Given the description of an element on the screen output the (x, y) to click on. 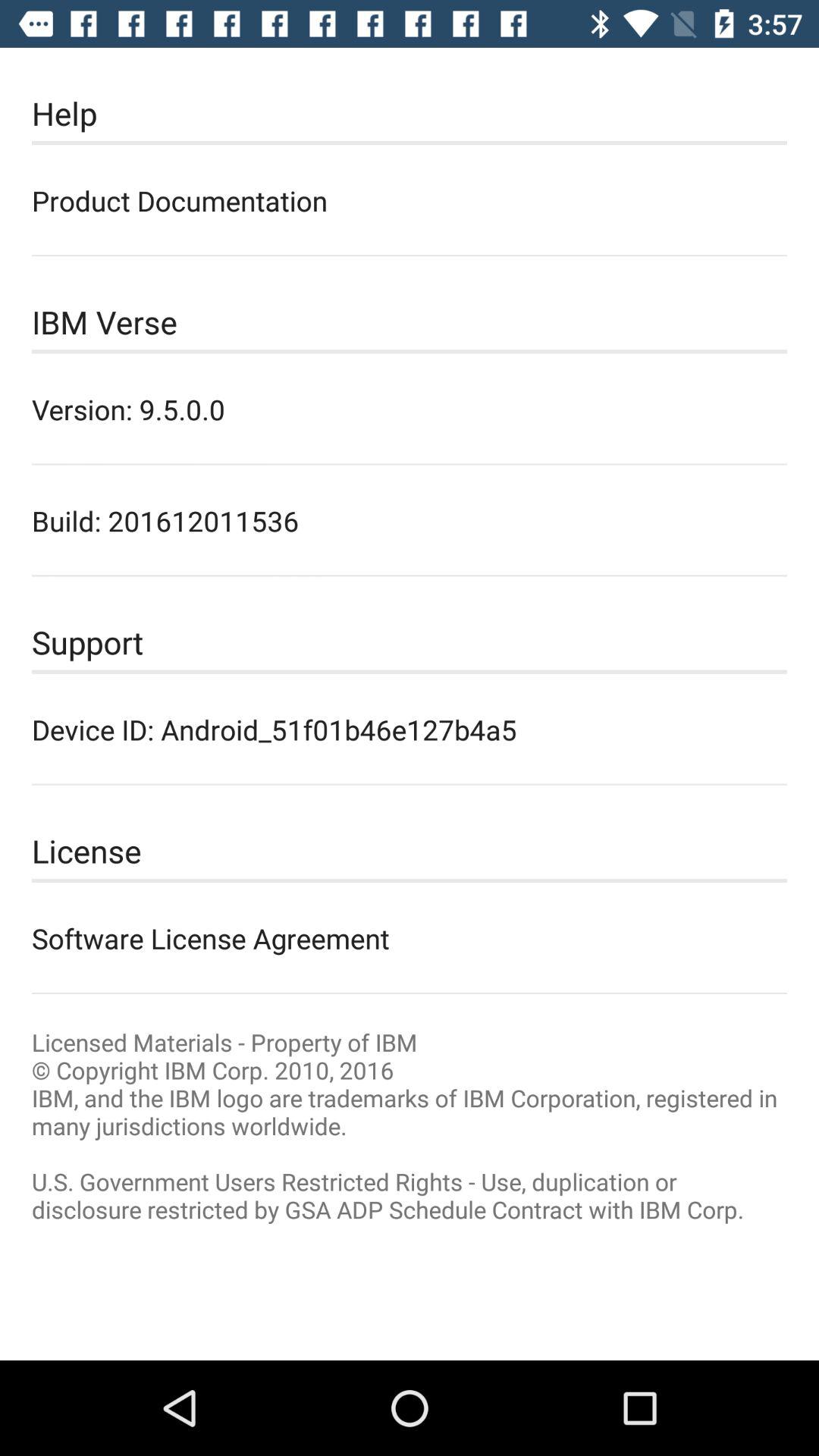
launch the icon above the licensed materials property item (409, 938)
